Given the description of an element on the screen output the (x, y) to click on. 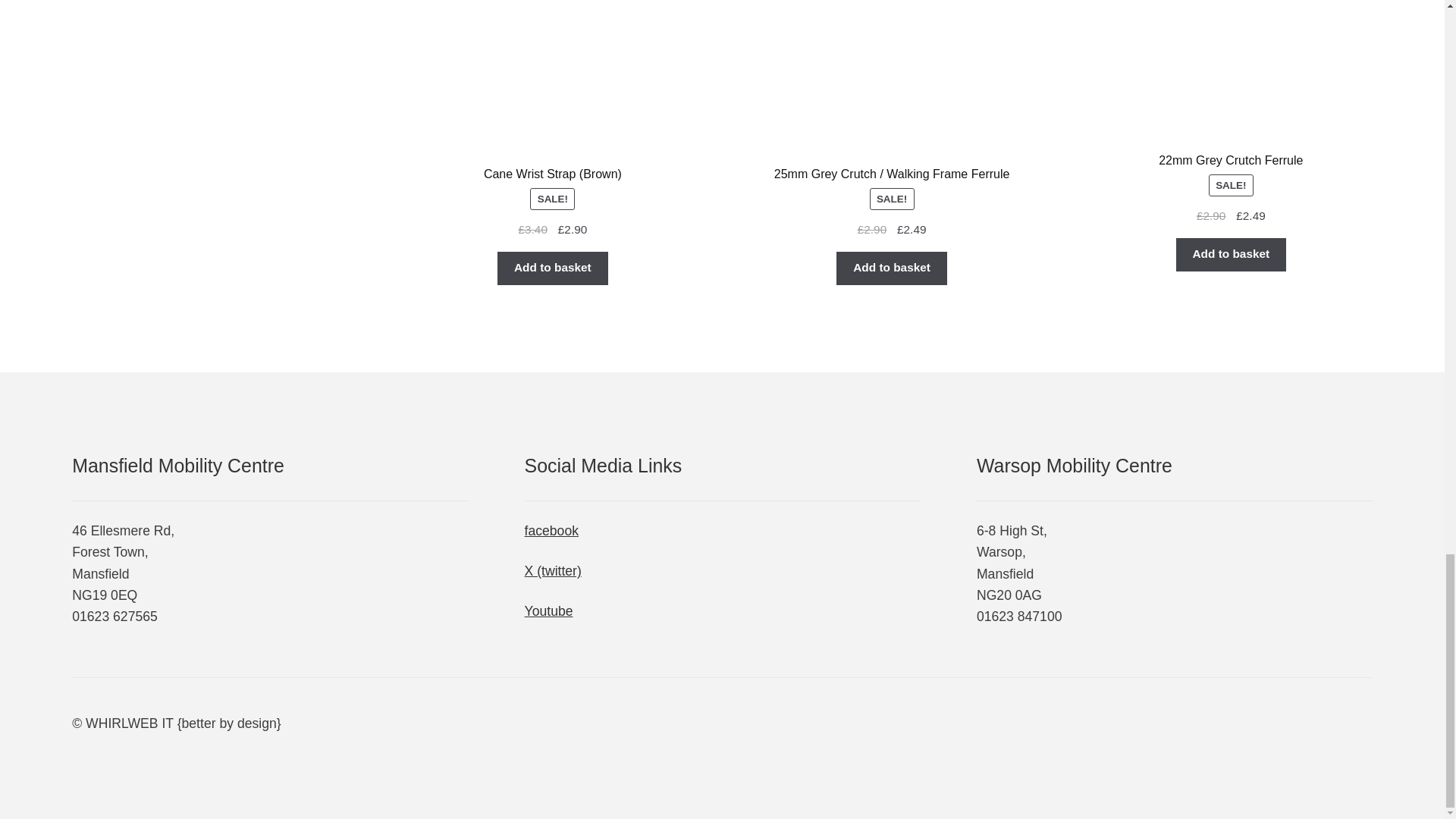
Add to basket (552, 268)
Add to basket (890, 268)
